Given the description of an element on the screen output the (x, y) to click on. 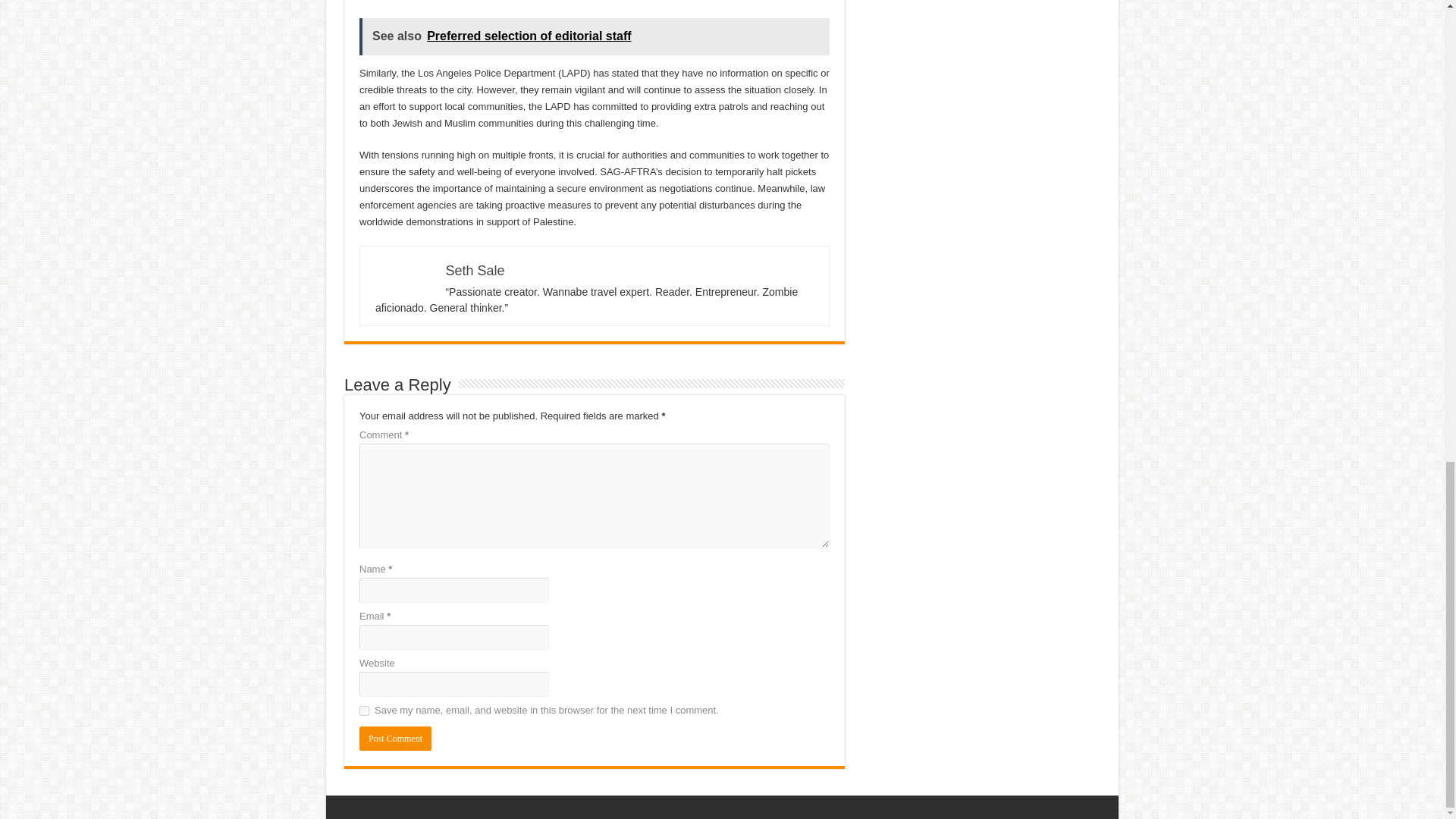
Post Comment (394, 738)
Post Comment (394, 738)
Seth Sale (474, 270)
See also  Preferred selection of editorial staff (594, 36)
yes (364, 710)
